Given the description of an element on the screen output the (x, y) to click on. 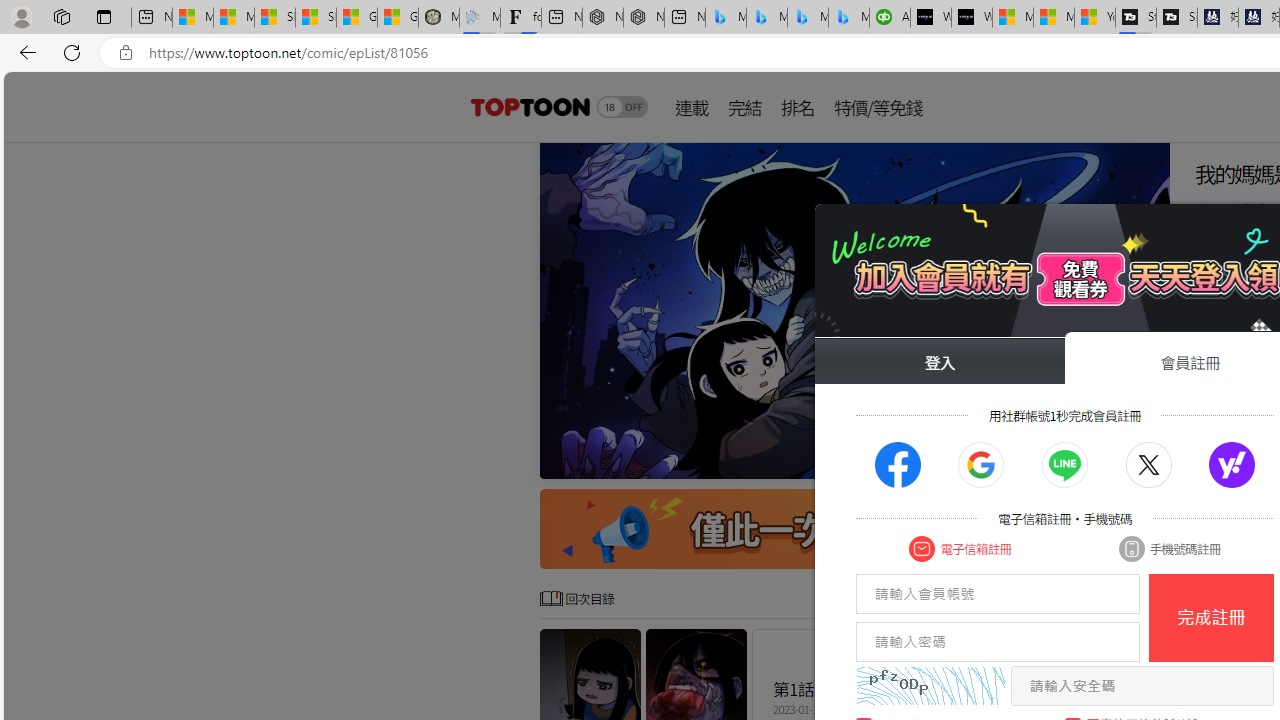
Gilma and Hector both pose tropical trouble for Hawaii (397, 17)
Go to slide 9 (1130, 461)
Go to slide 2 (1018, 461)
Class: swiper-slide swiper-slide-duplicate swiper-slide-next (854, 310)
Shanghai, China weather forecast | Microsoft Weather (315, 17)
Class: socialBtn actionSocialJoinBtn (1232, 465)
Accounting Software for Accountants, CPAs and Bookkeepers (890, 17)
Class: swiper-slide swiper-slide-duplicate-next (854, 310)
Go to slide 5 (1066, 461)
